Given the description of an element on the screen output the (x, y) to click on. 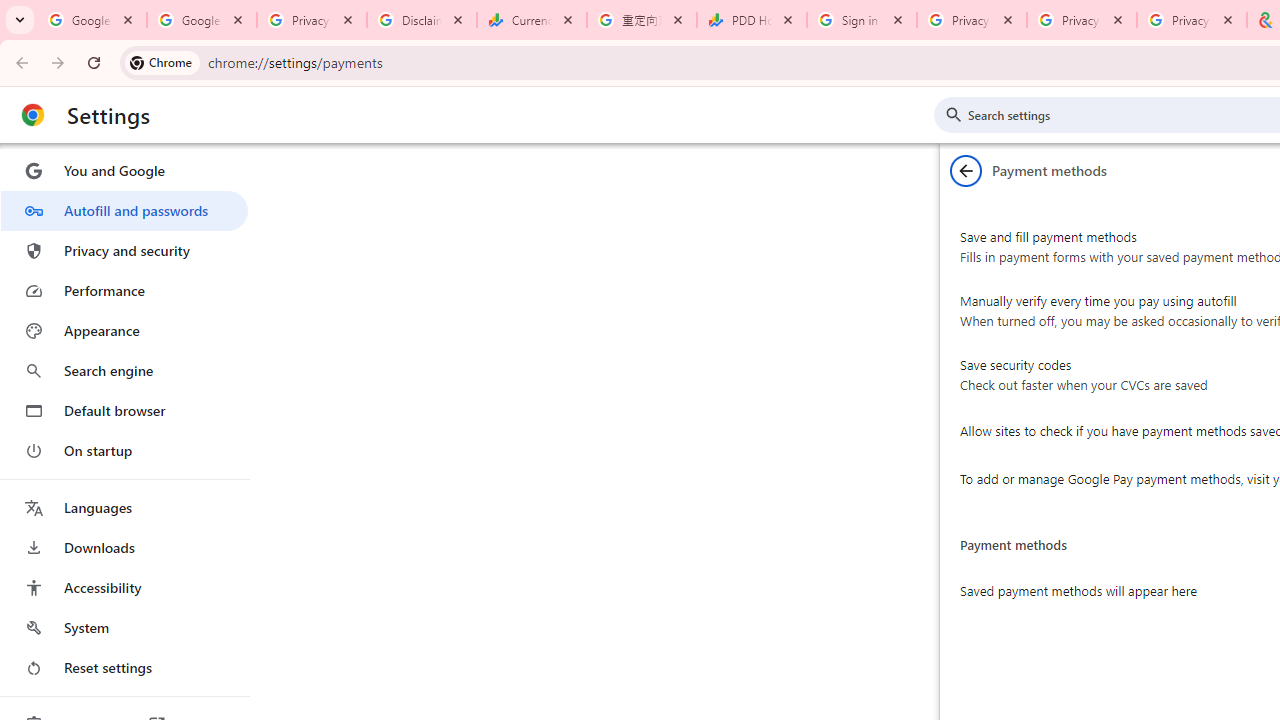
Autofill and passwords (124, 210)
Search engine (124, 370)
On startup (124, 450)
Downloads (124, 547)
Currencies - Google Finance (532, 20)
Privacy Checkup (1191, 20)
Privacy Checkup (1081, 20)
